Given the description of an element on the screen output the (x, y) to click on. 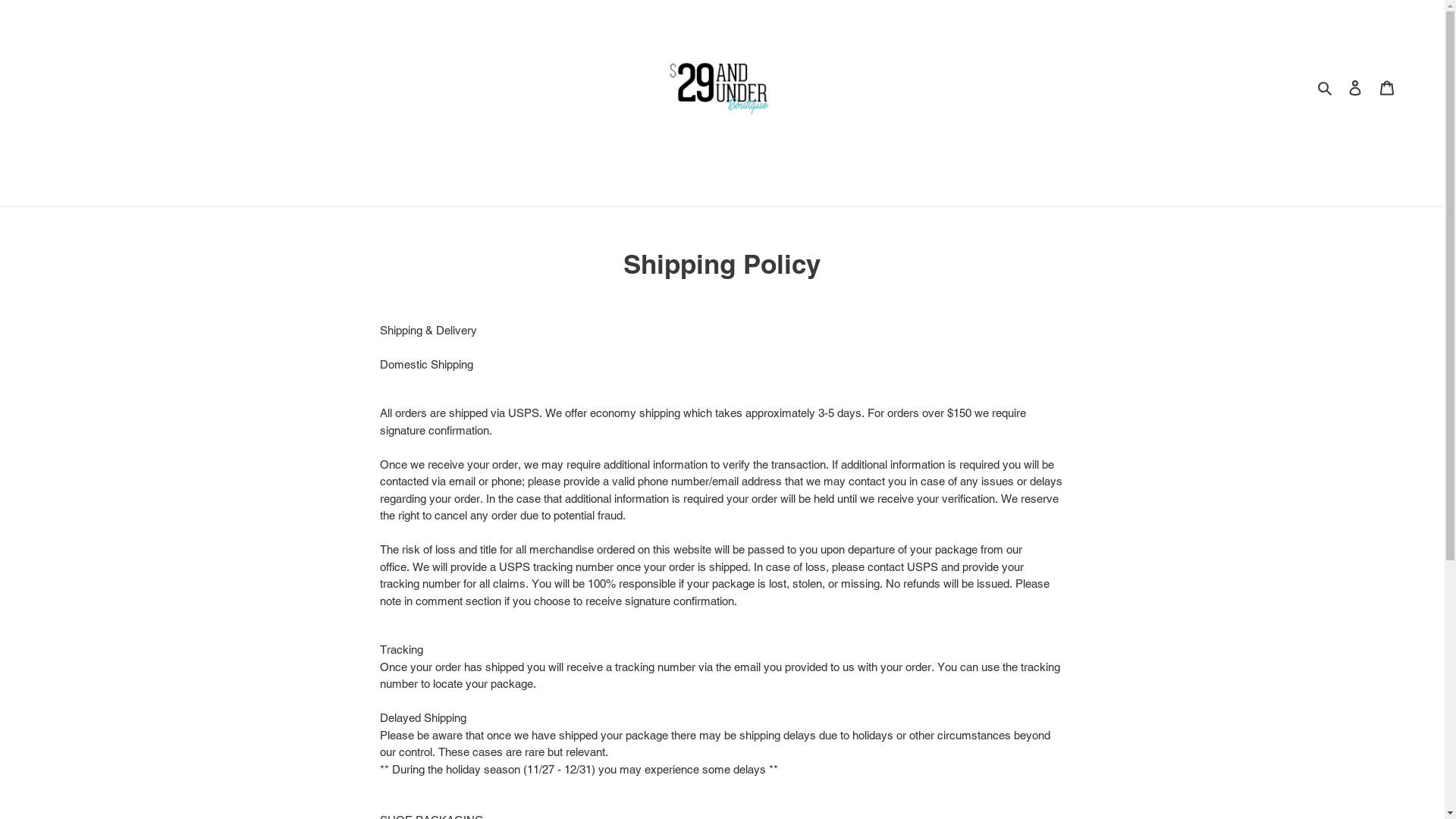
Cart Element type: text (1386, 87)
Log in Element type: text (1355, 87)
Search Element type: text (1325, 87)
